Given the description of an element on the screen output the (x, y) to click on. 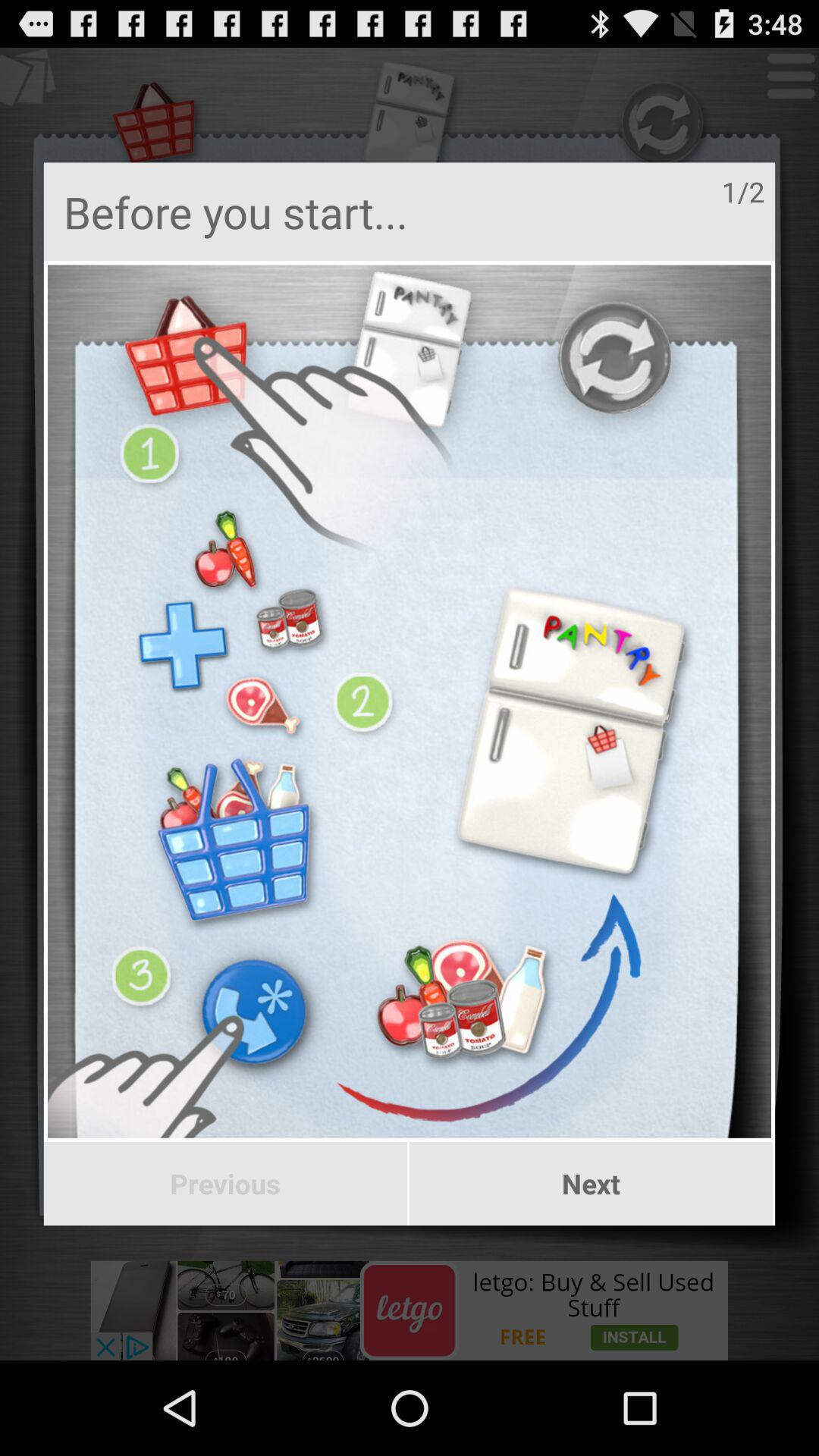
launch the button at the bottom right corner (590, 1183)
